Given the description of an element on the screen output the (x, y) to click on. 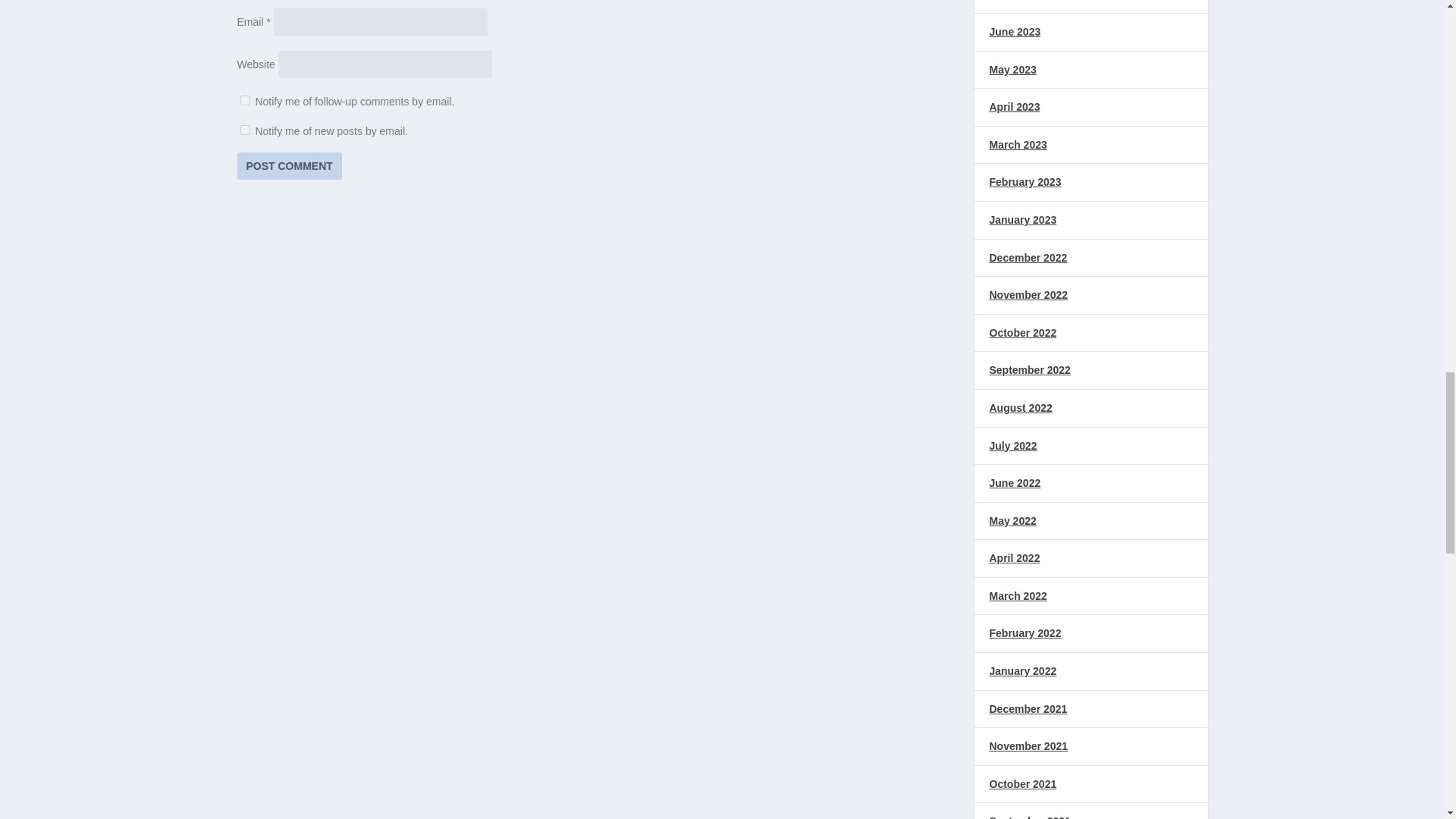
Post Comment (287, 165)
subscribe (244, 130)
subscribe (244, 100)
Post Comment (287, 165)
